Given the description of an element on the screen output the (x, y) to click on. 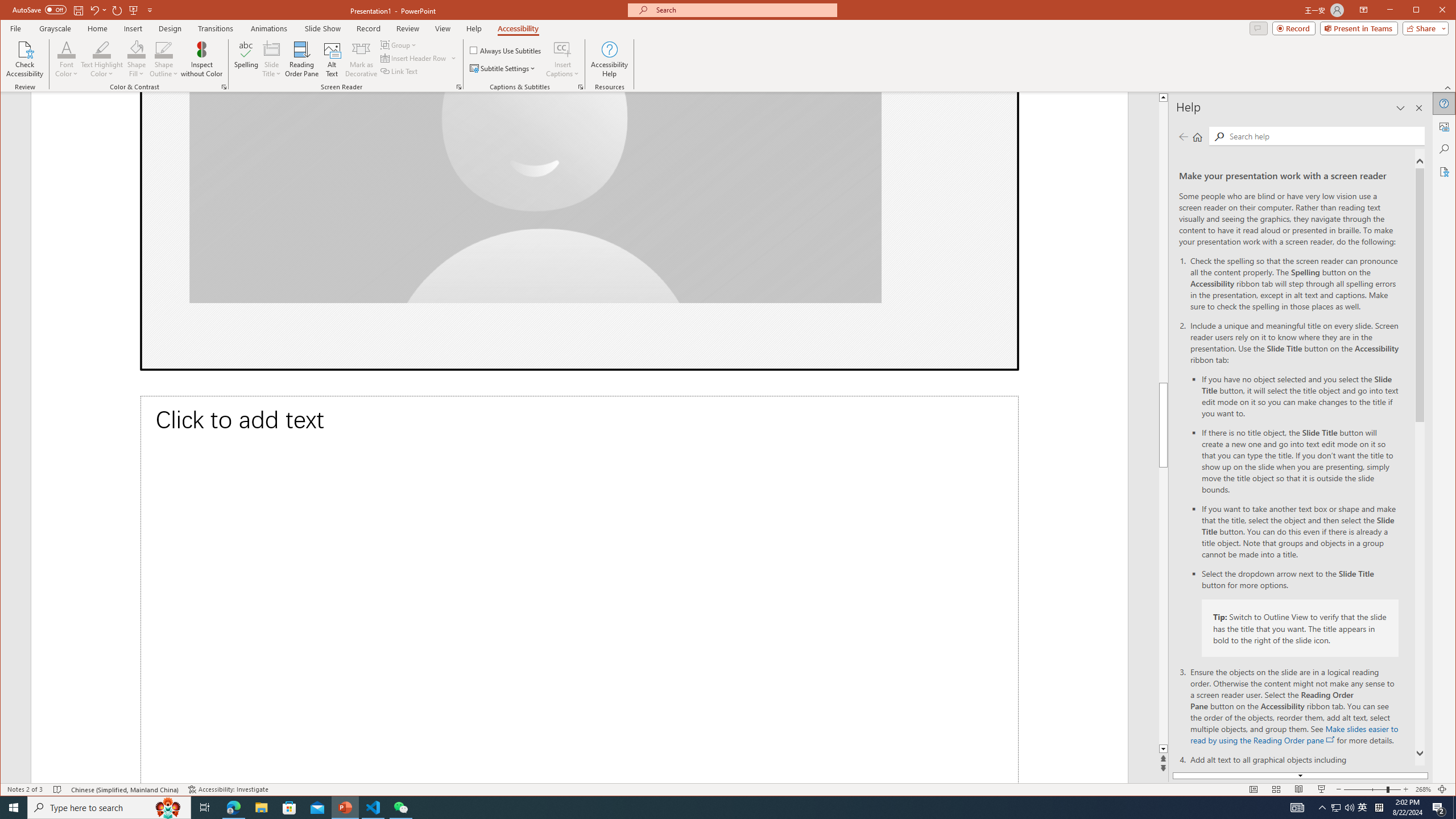
Page up (1279, 241)
Slide Title (271, 59)
Tray Input Indicator - Chinese (Simplified, China) (1378, 807)
Spell Check No Errors (57, 789)
Screen Reader (458, 86)
Close pane (1418, 107)
Accessibility Help (608, 59)
Slide (579, 231)
